Given the description of an element on the screen output the (x, y) to click on. 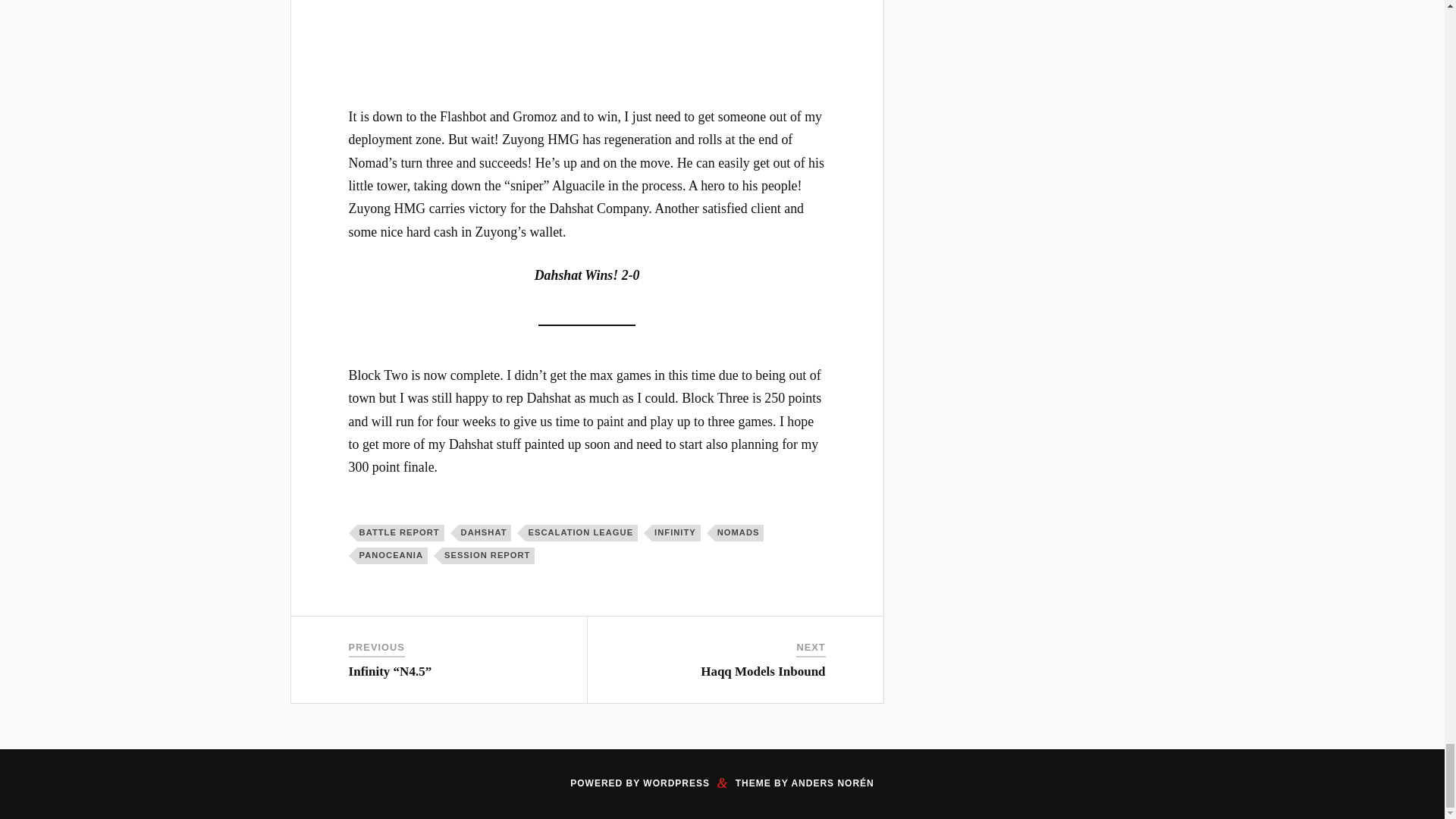
DAHSHAT (485, 532)
ESCALATION LEAGUE (581, 532)
PANOCEANIA (392, 555)
NOMADS (739, 532)
BATTLE REPORT (400, 532)
INFINITY (676, 532)
SESSION REPORT (488, 555)
Haqq Models Inbound (762, 671)
